Given the description of an element on the screen output the (x, y) to click on. 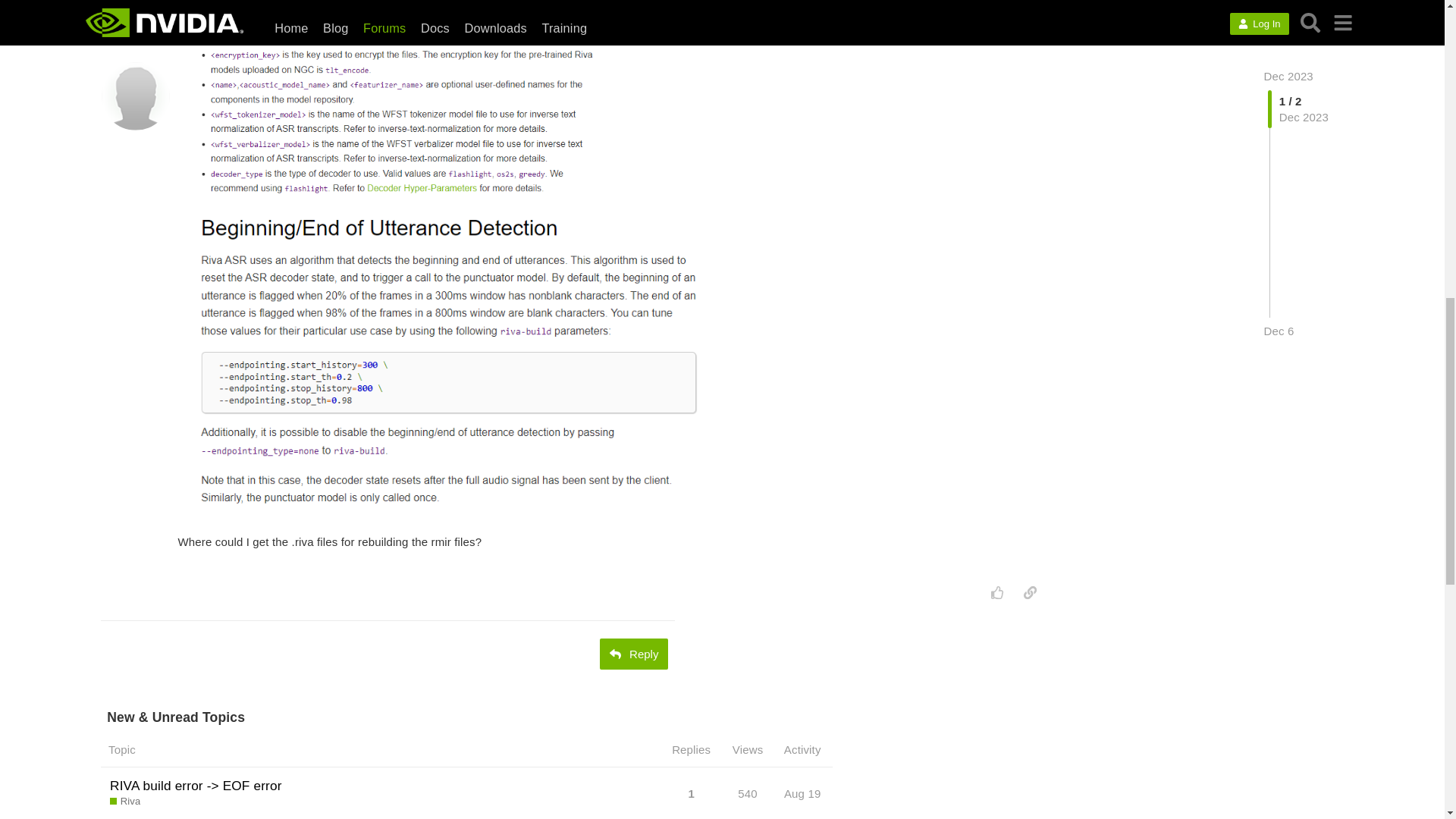
Reply (633, 653)
